Given the description of an element on the screen output the (x, y) to click on. 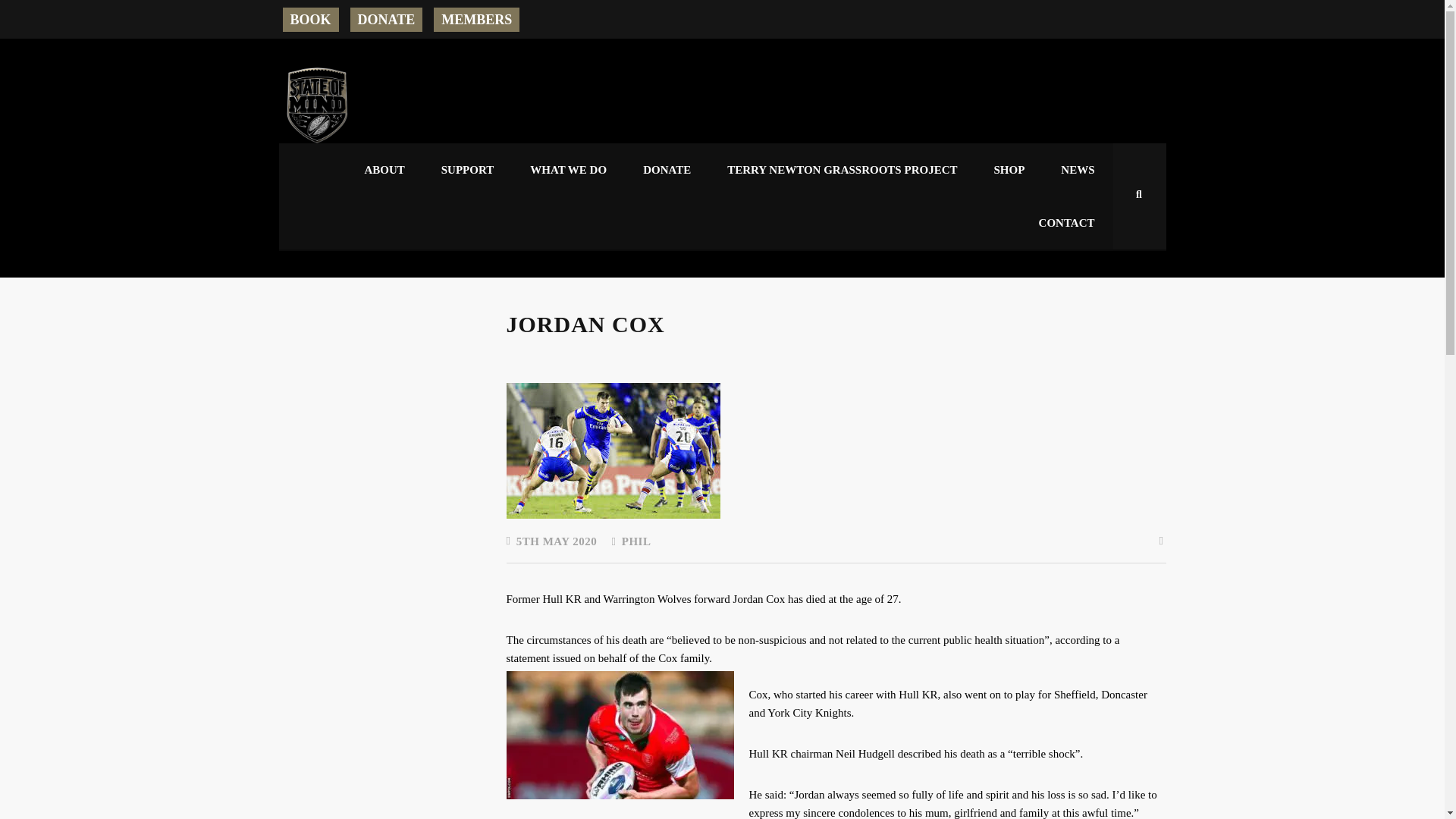
ABOUT (384, 169)
TERRY NEWTON GRASSROOTS PROJECT (842, 169)
MEMBERS (476, 19)
SUPPORT (467, 169)
DONATE (386, 19)
DONATE (666, 169)
SHOP (1008, 169)
Sign up (682, 661)
Home (317, 105)
NEWS (1077, 169)
WHAT WE DO (568, 169)
BOOK (309, 19)
CONTACT (1066, 222)
